Given the description of an element on the screen output the (x, y) to click on. 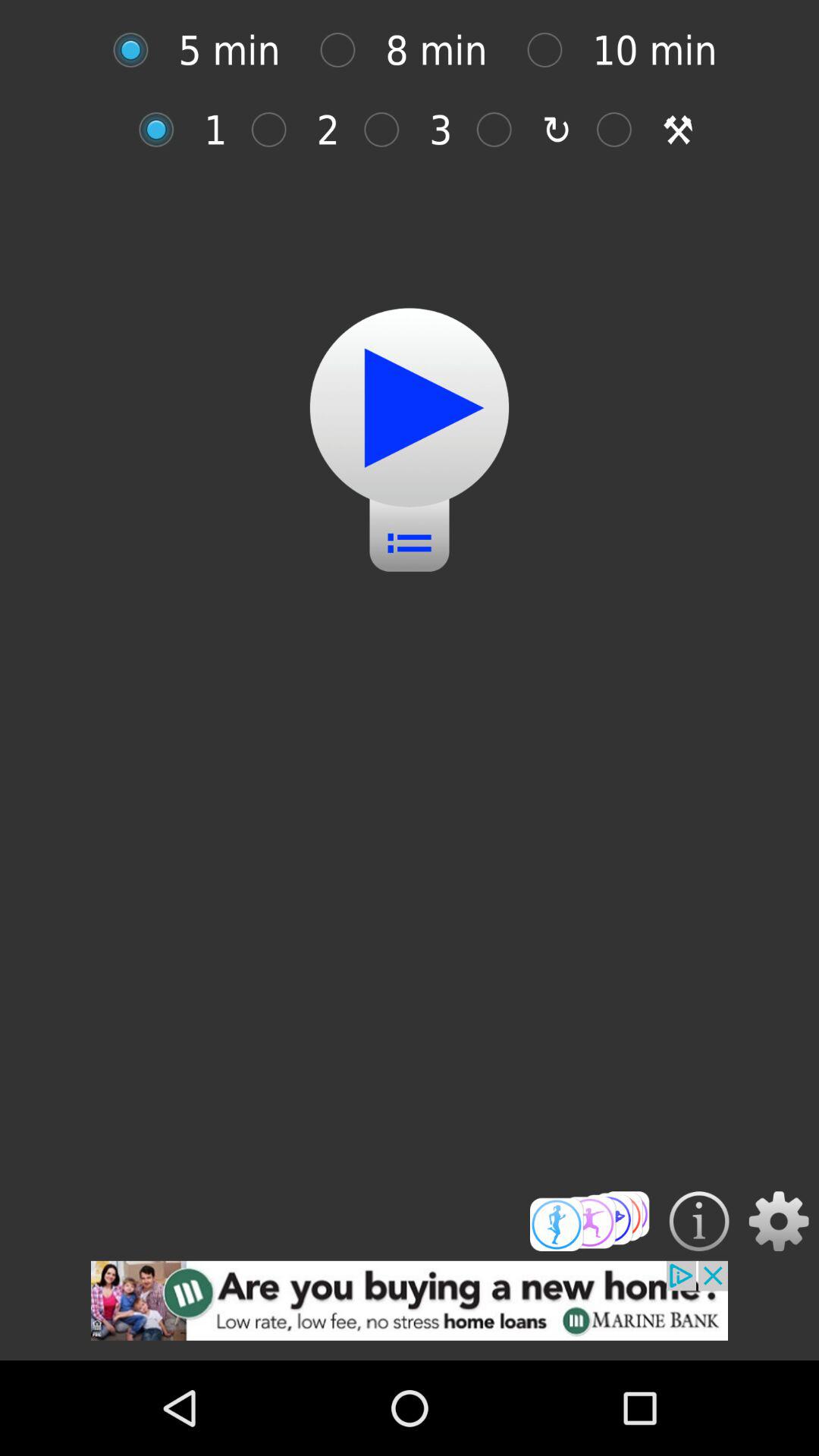
advertisement (409, 1310)
